Given the description of an element on the screen output the (x, y) to click on. 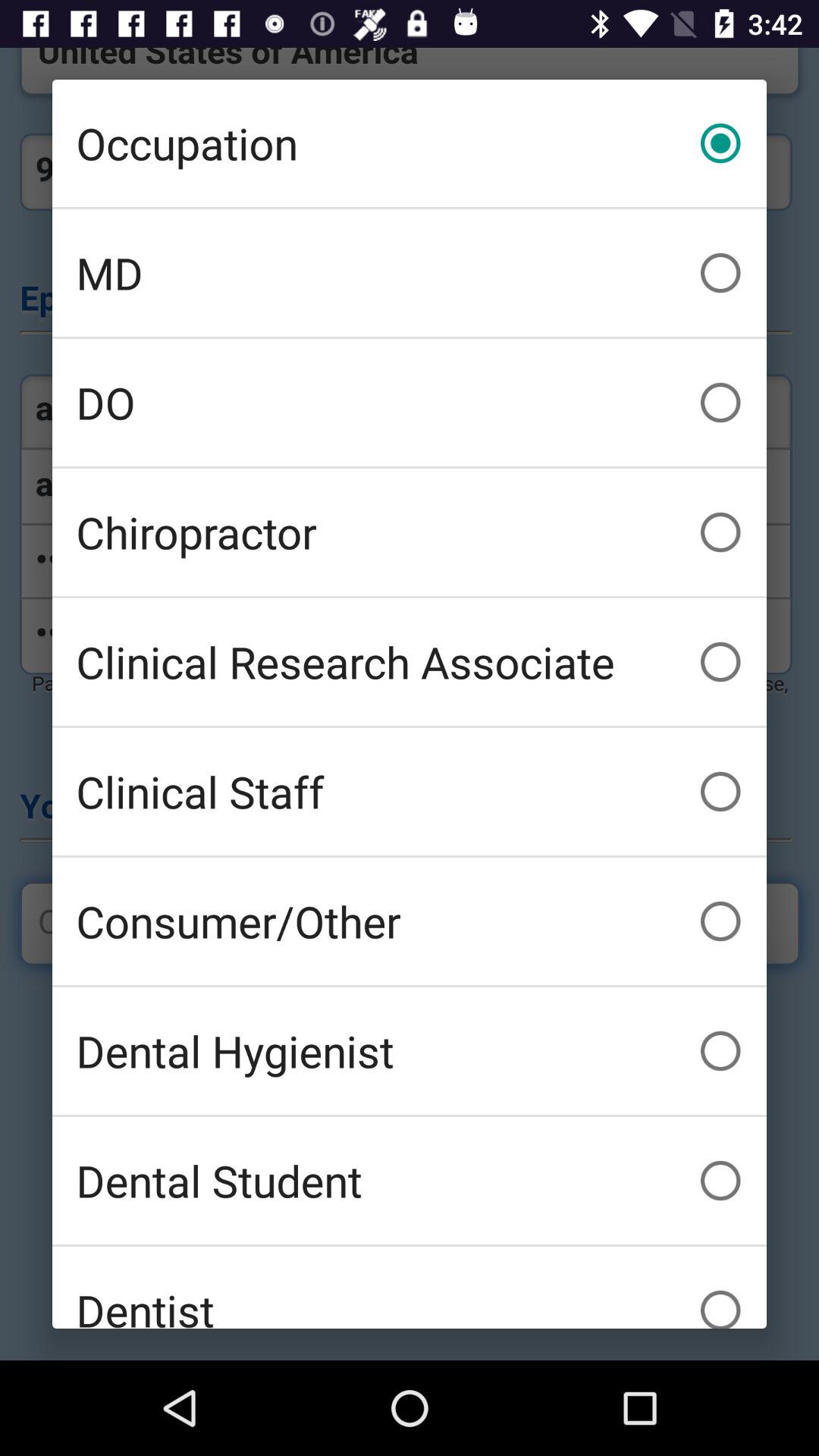
select the item below clinical staff (409, 921)
